Given the description of an element on the screen output the (x, y) to click on. 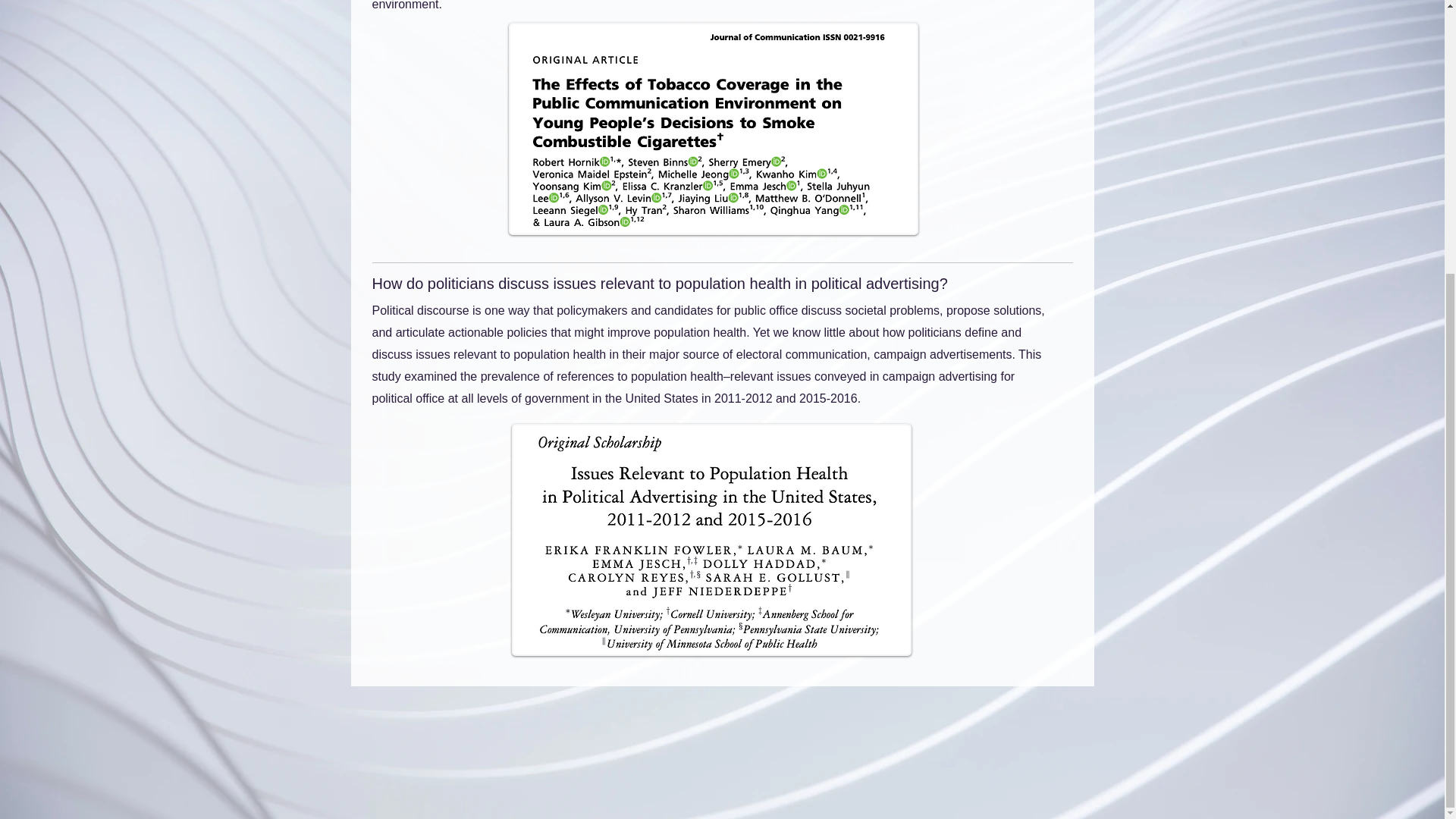
Screen Shot 2022-10-26 at 3.30.31 PM.png (712, 128)
Screen Shot 2022-10-26 at 3.30.31 PM.png (711, 540)
